Given the description of an element on the screen output the (x, y) to click on. 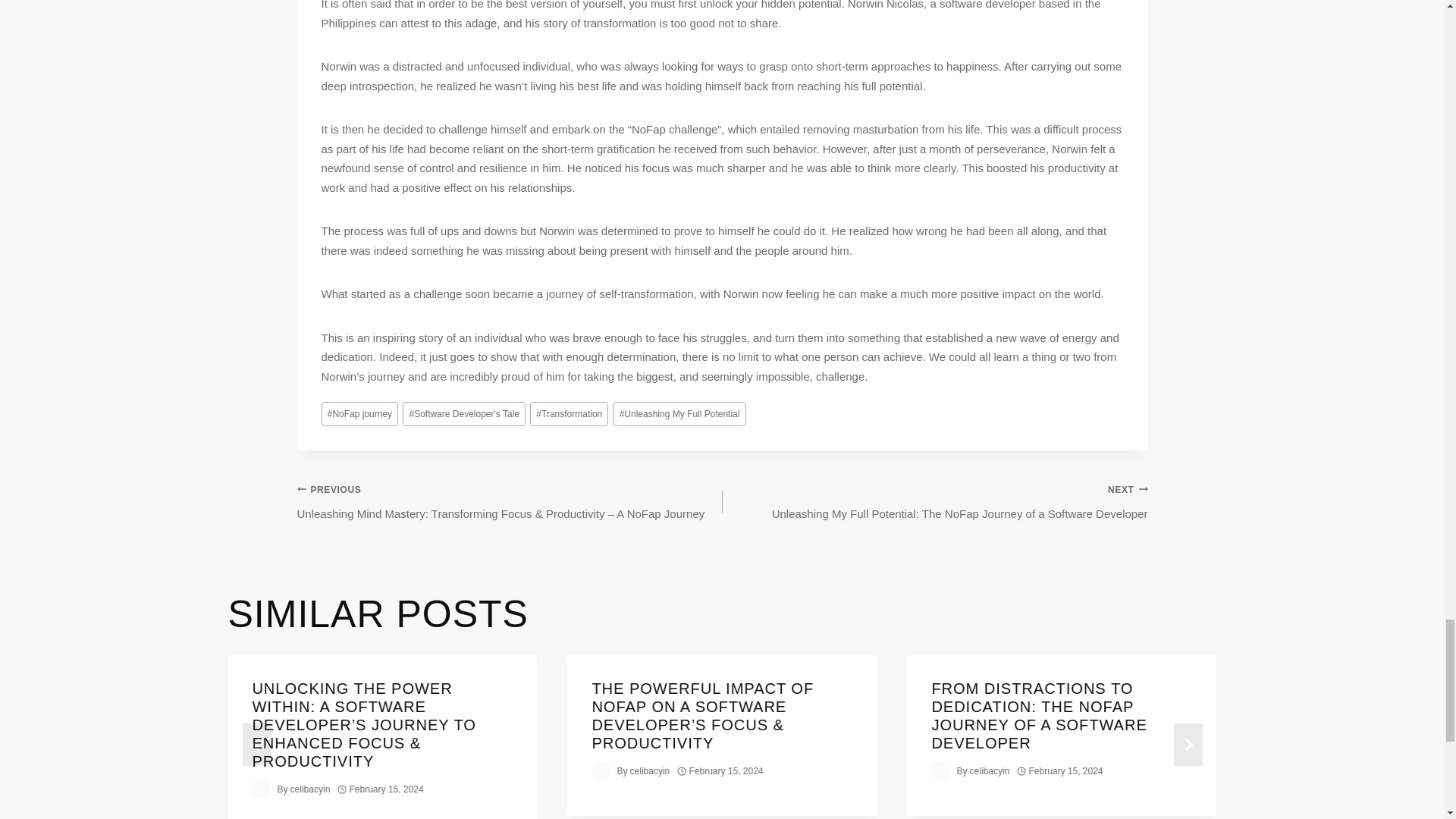
NoFap journey (359, 413)
Unleashing My Full Potential (678, 413)
Transformation (568, 413)
Software Developer's Tale (464, 413)
